Given the description of an element on the screen output the (x, y) to click on. 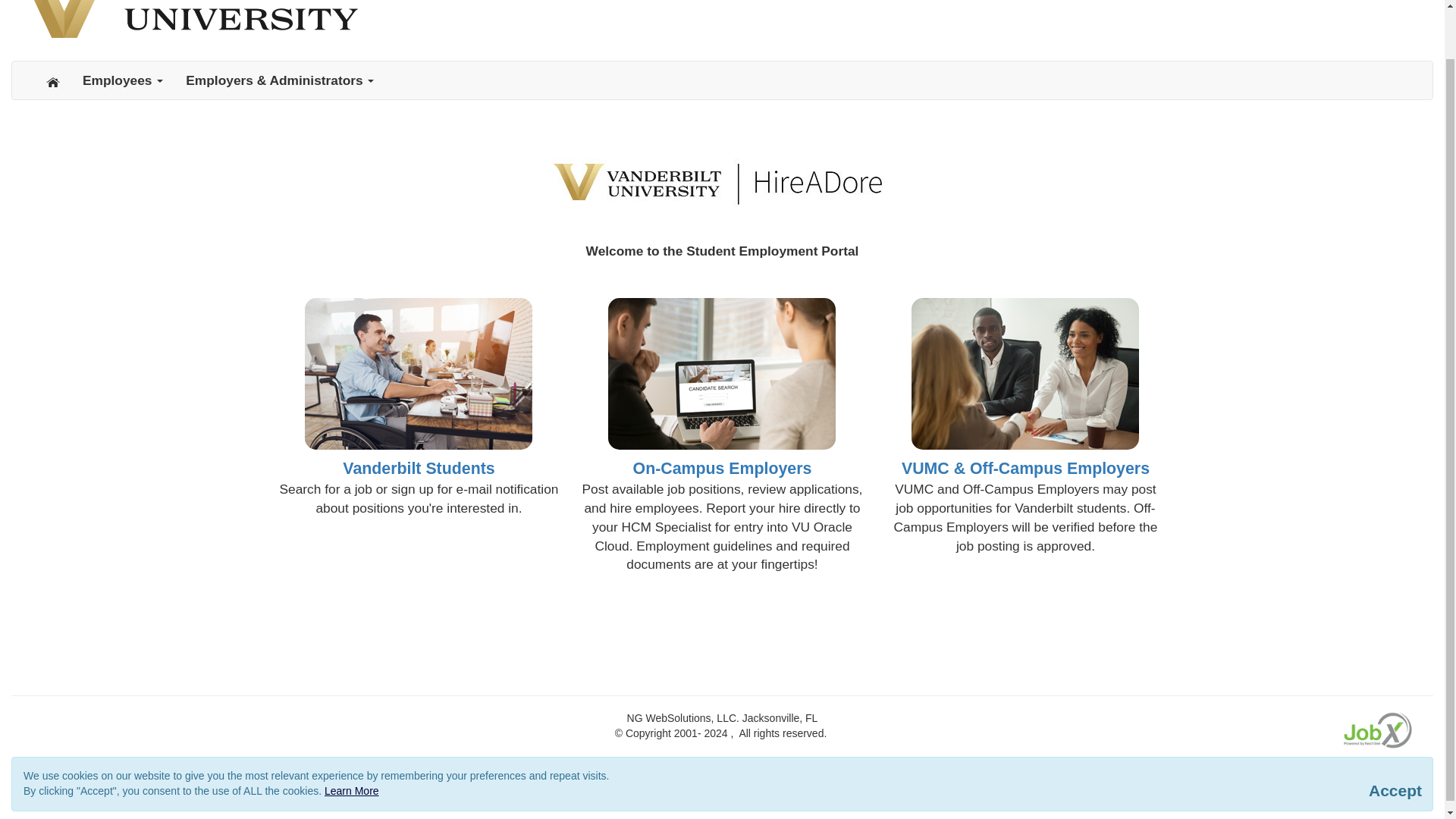
On-Campus Employers (722, 468)
Vanderbilt Students (418, 468)
Learn More (351, 790)
Accept (1395, 790)
Employees (122, 80)
